Given the description of an element on the screen output the (x, y) to click on. 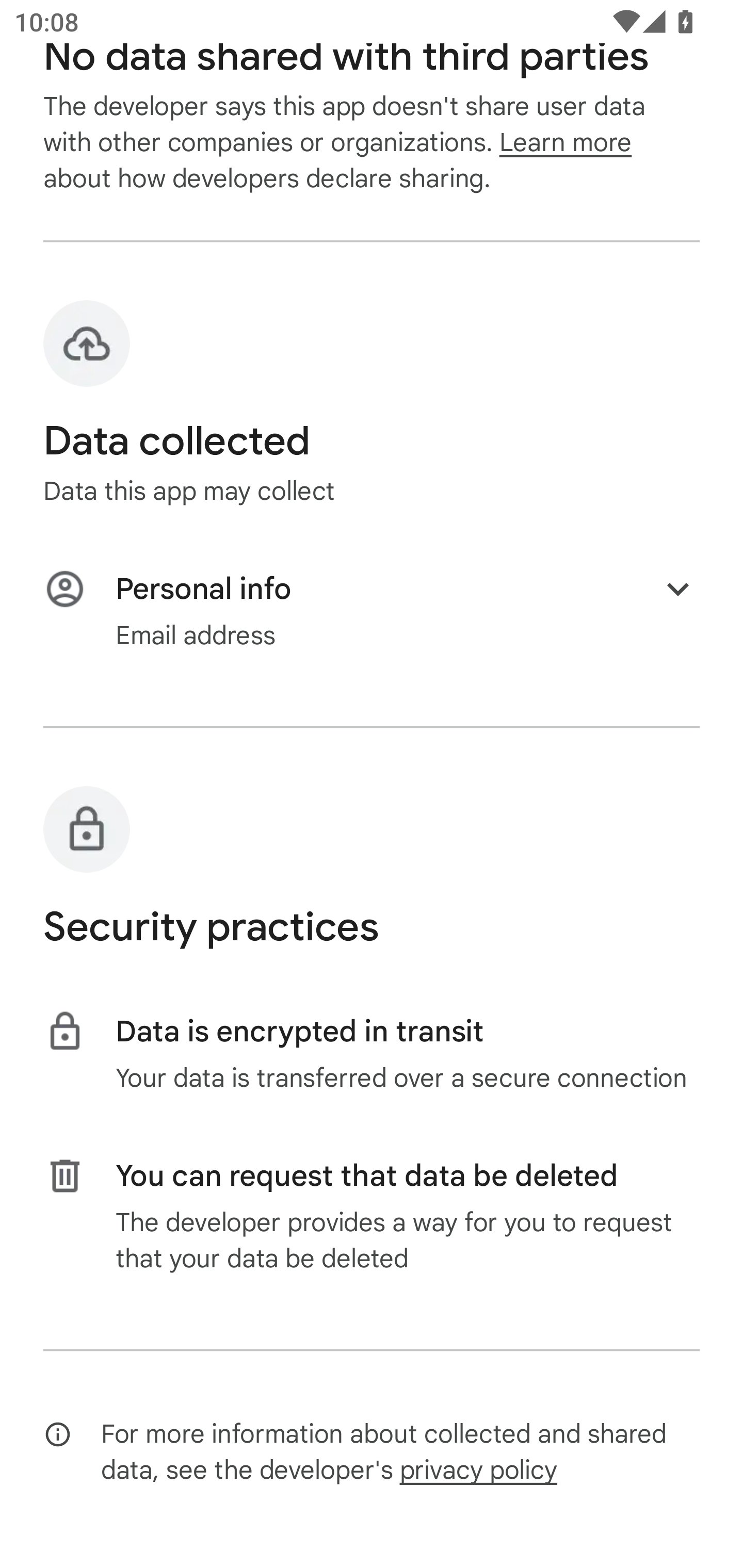
heading Personal info Email address Expand button (371, 610)
